Given the description of an element on the screen output the (x, y) to click on. 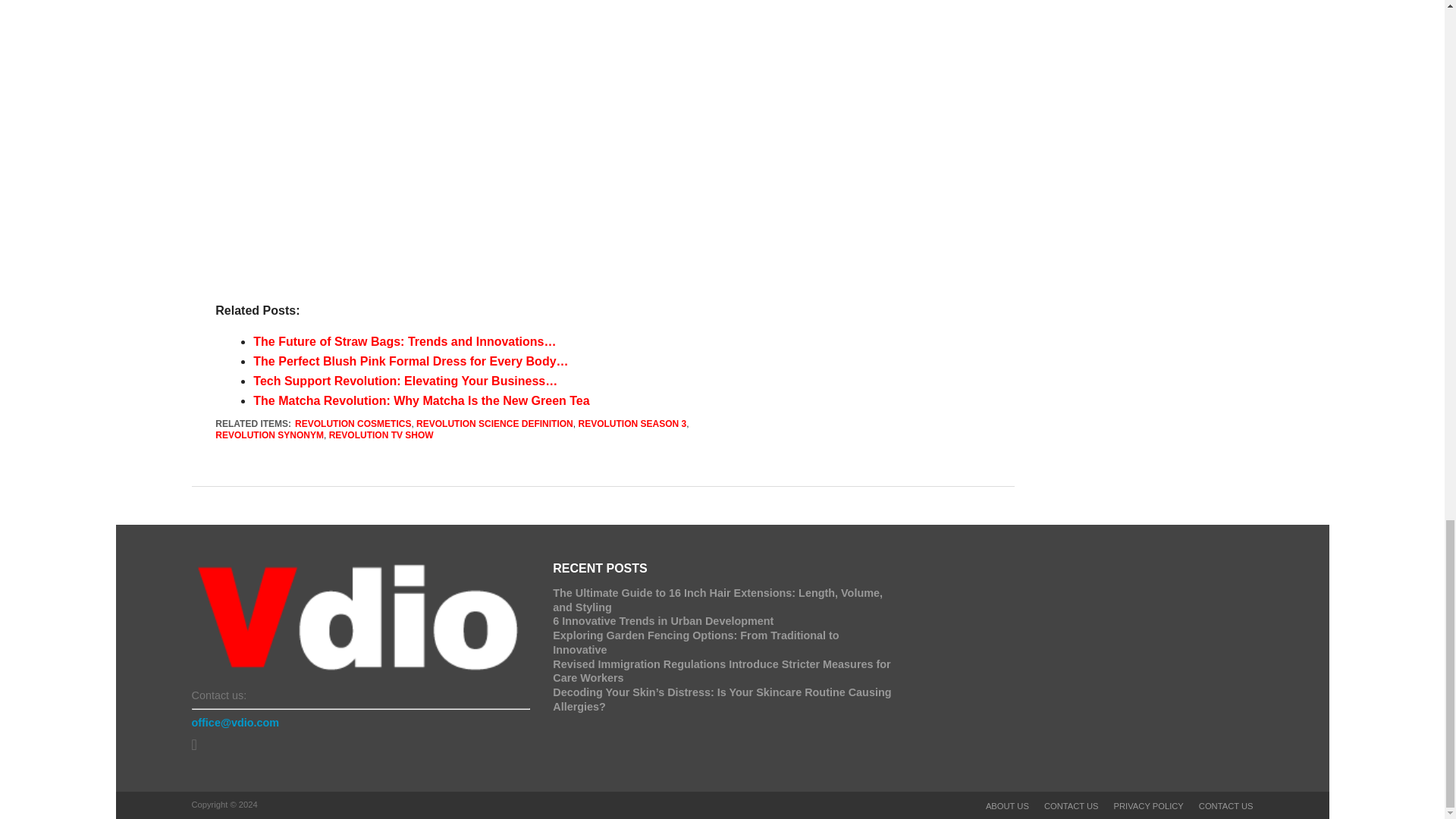
REVOLUTION COSMETICS (352, 423)
The Matcha Revolution: Why Matcha Is the New Green Tea (421, 400)
REVOLUTION SYNONYM (269, 434)
REVOLUTION SCIENCE DEFINITION (494, 423)
REVOLUTION TV SHOW (381, 434)
REVOLUTION SEASON 3 (631, 423)
